Given the description of an element on the screen output the (x, y) to click on. 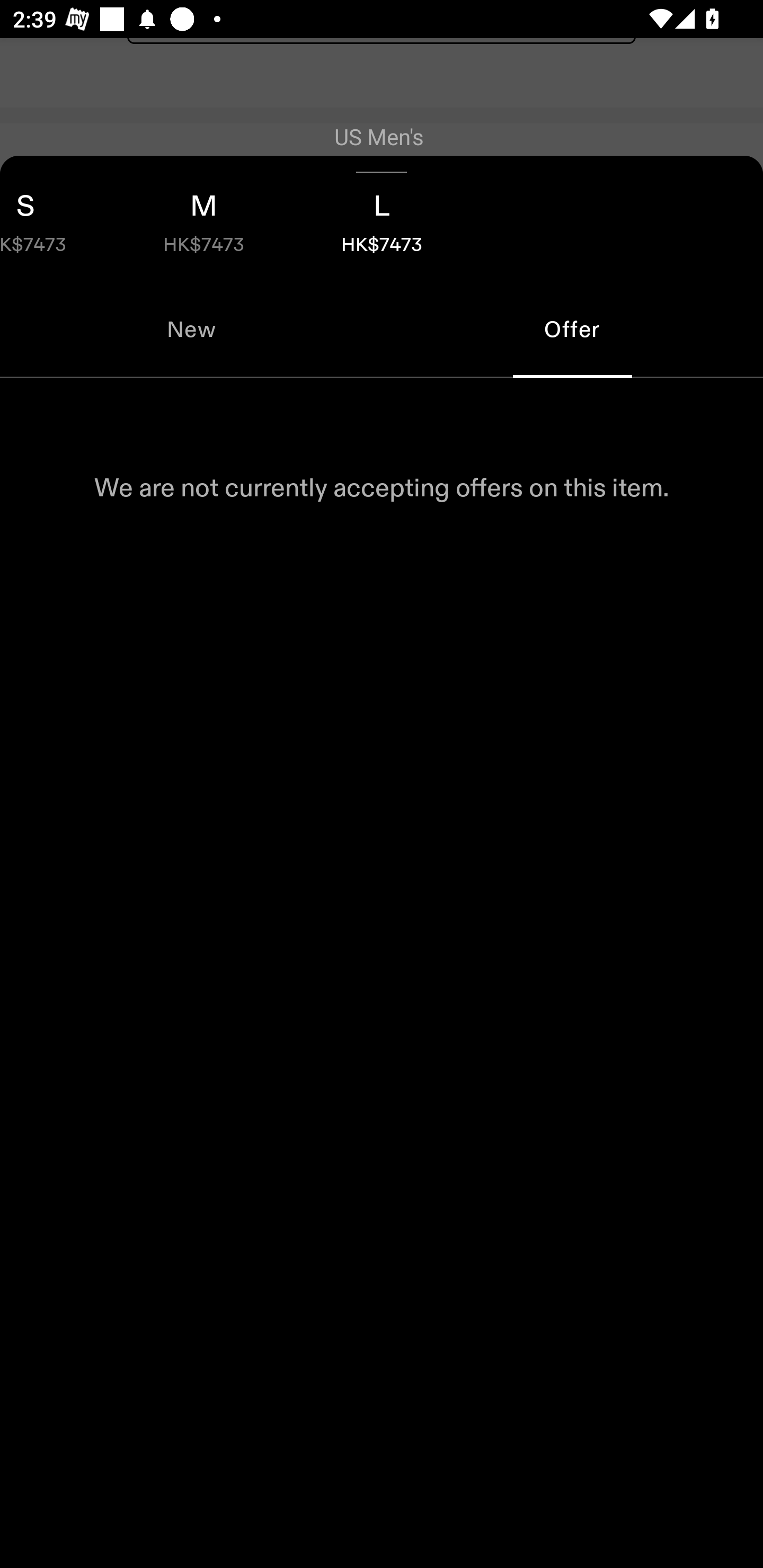
S HK$7473 (57, 218)
M HK$7473 (203, 218)
L HK$7473 (381, 218)
New (190, 329)
